Given the description of an element on the screen output the (x, y) to click on. 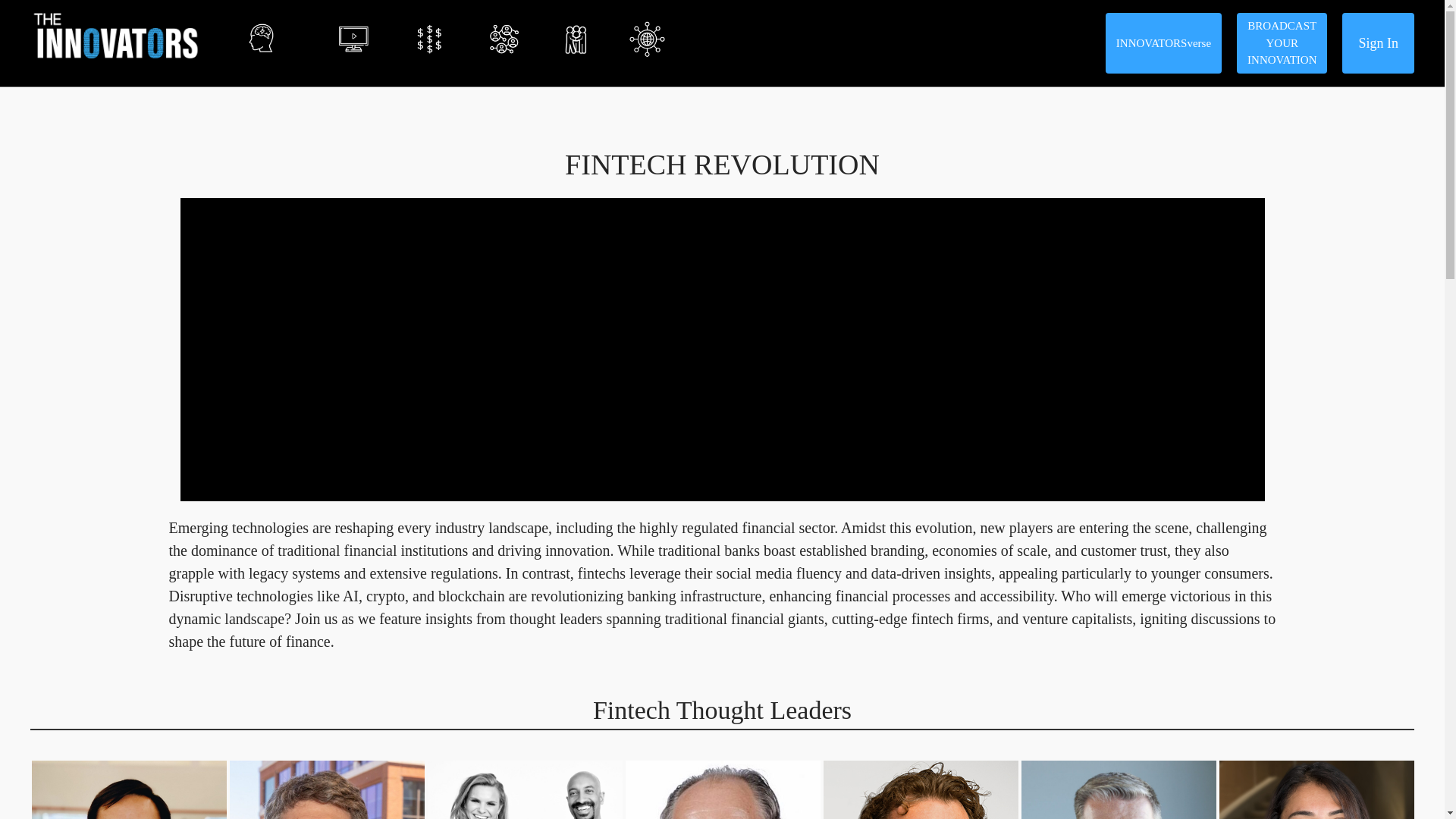
INNOVATORSverse (723, 789)
Sign In (1118, 789)
